Given the description of an element on the screen output the (x, y) to click on. 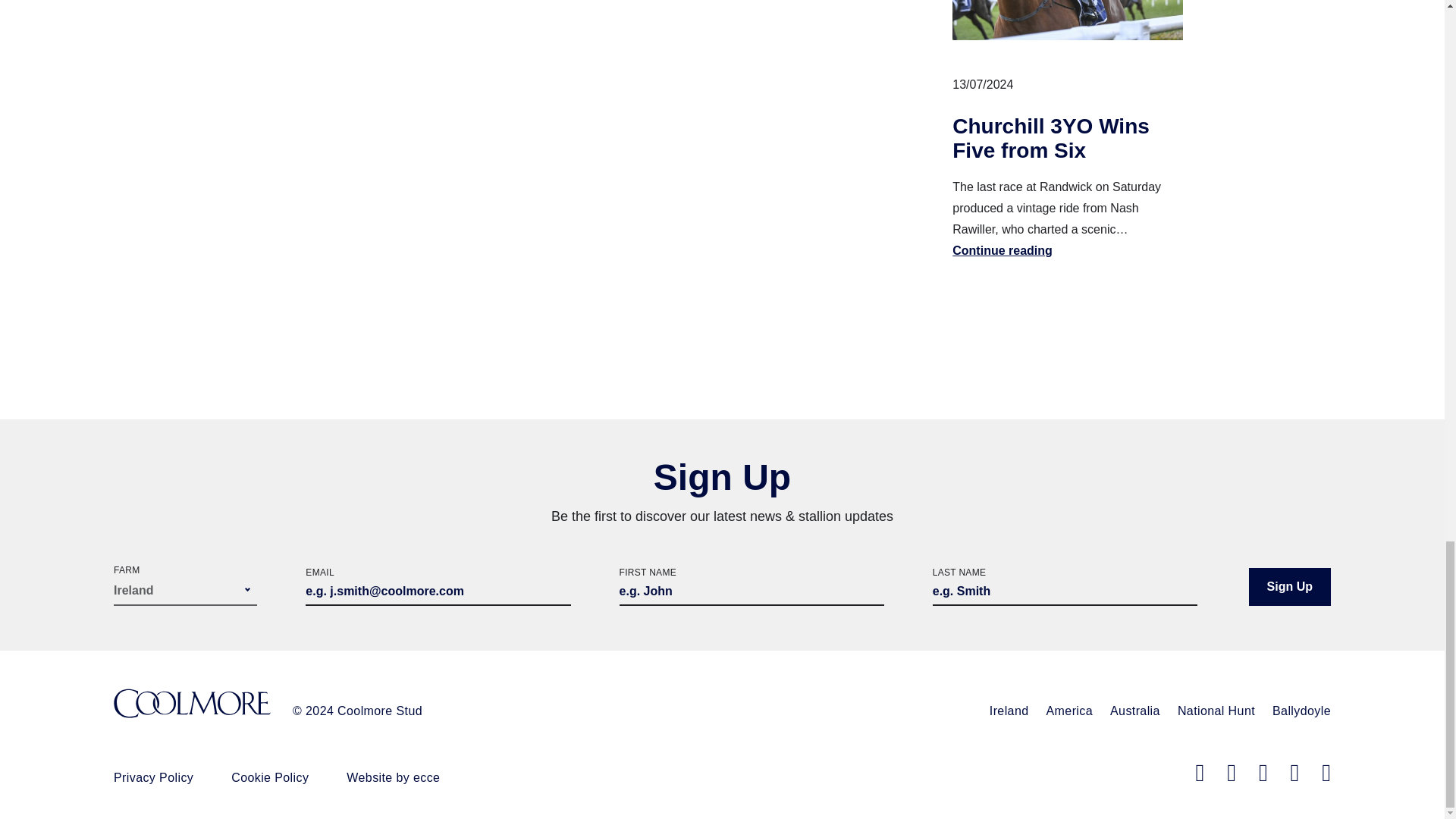
Privacy Policy (153, 777)
Website by ecce (392, 777)
Australia (1134, 710)
Coolmore (191, 704)
Sign Up (1289, 587)
America (1069, 710)
National Hunt (1216, 710)
Ballydoyle (1301, 710)
Cookie Policy (269, 777)
Ireland (1009, 710)
